Given the description of an element on the screen output the (x, y) to click on. 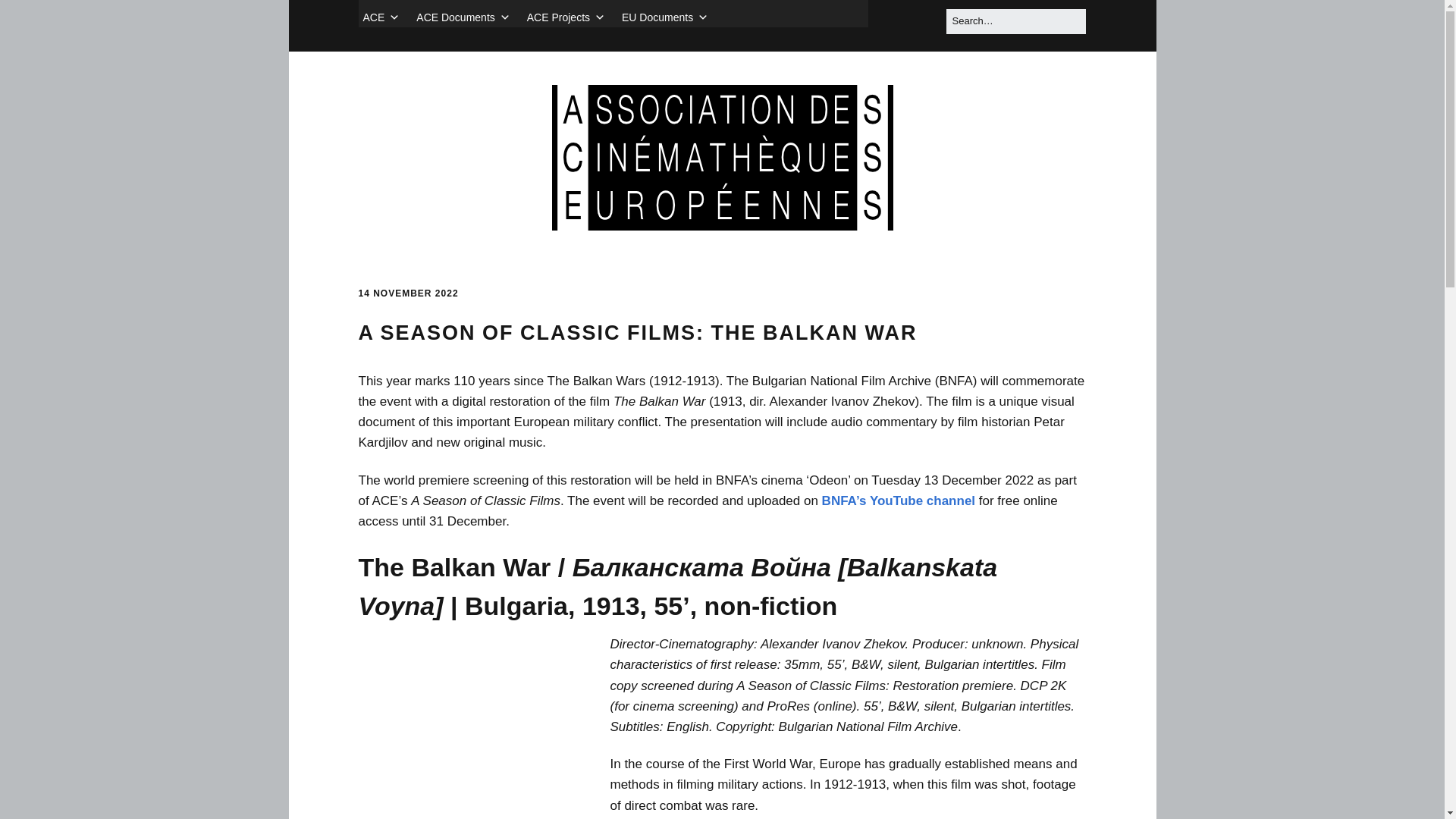
Press Enter to submit your search (1015, 21)
ACE Documents (462, 17)
ACE (381, 17)
Search (29, 16)
EU Documents (665, 17)
ACE Projects (566, 17)
